Given the description of an element on the screen output the (x, y) to click on. 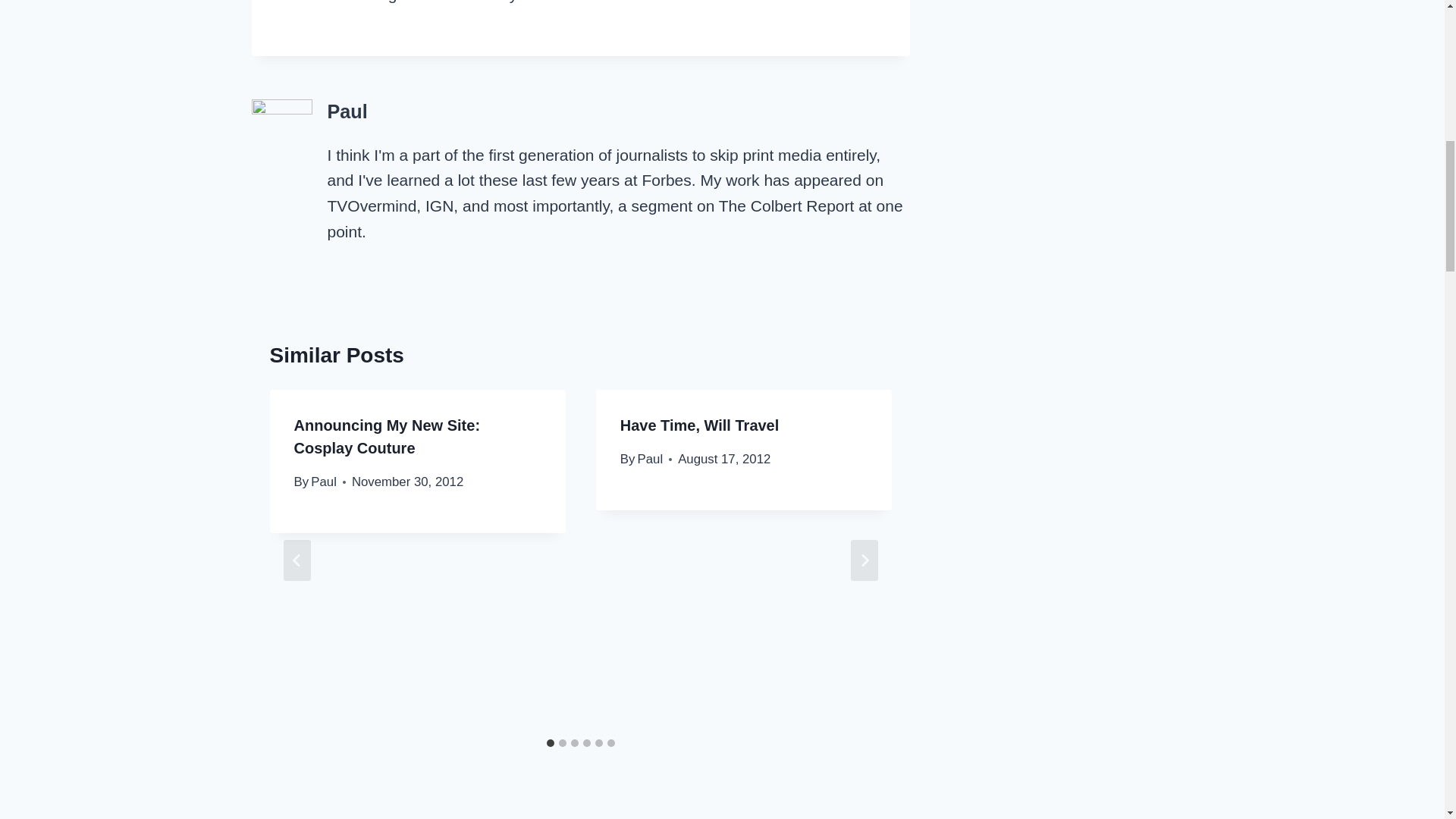
Paul (323, 481)
Paul (650, 459)
Posts by Paul (347, 111)
Paul (347, 111)
Announcing My New Site: Cosplay Couture (387, 436)
Have Time, Will Travel (699, 425)
